Given the description of an element on the screen output the (x, y) to click on. 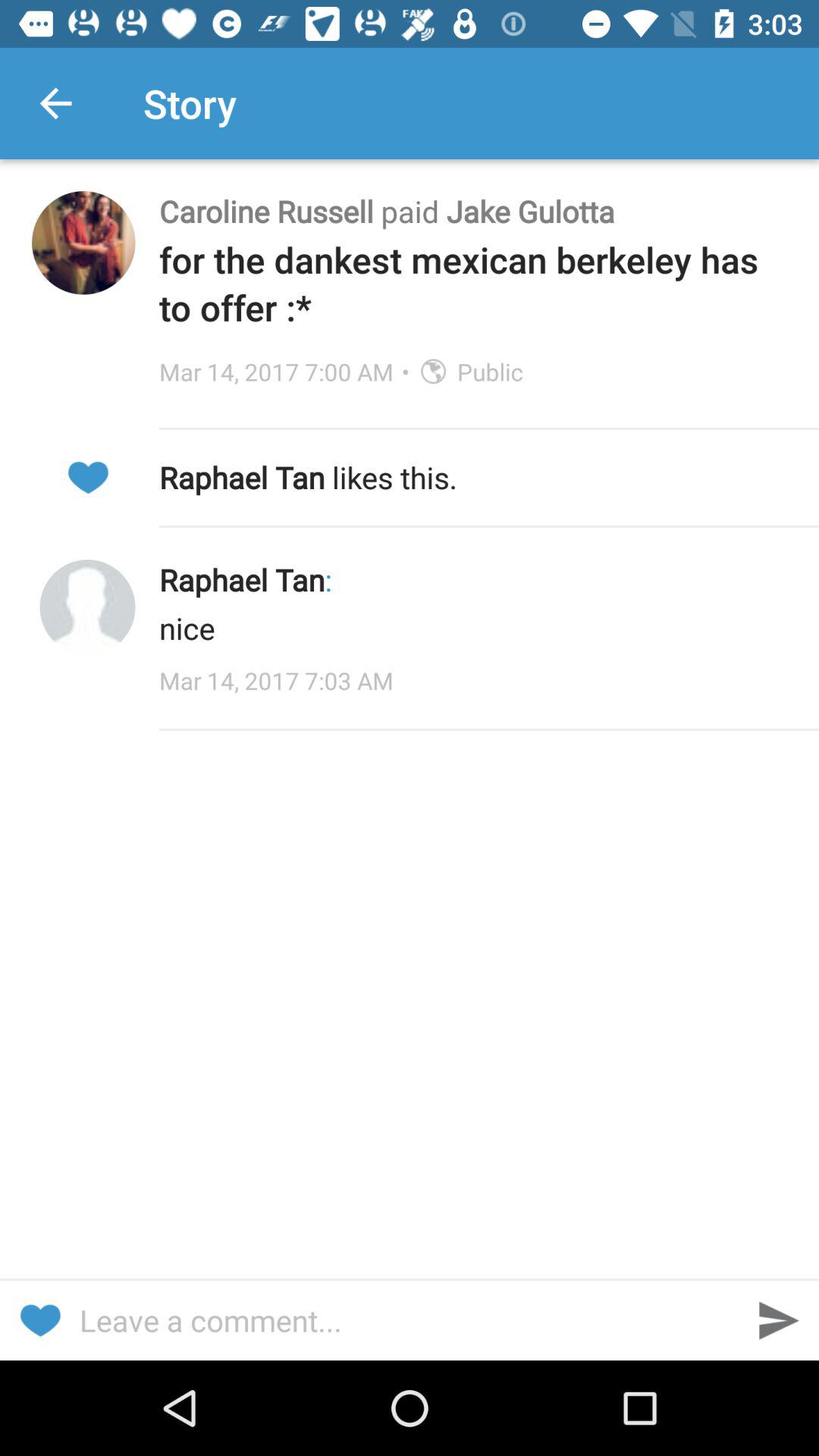
launch item at the bottom left corner (39, 1320)
